Given the description of an element on the screen output the (x, y) to click on. 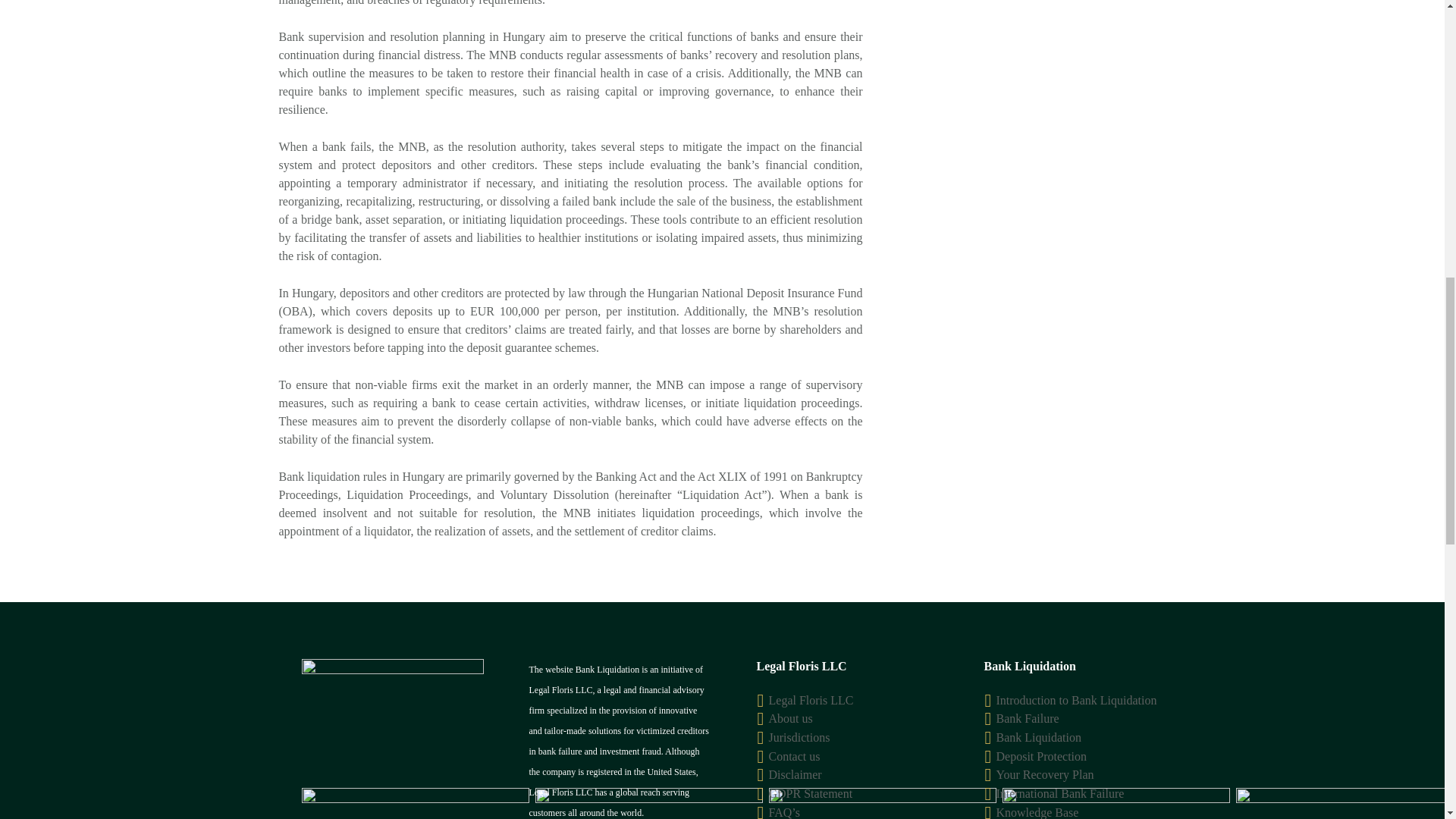
Deposit Protection (1041, 756)
Bank Failure (1027, 717)
Bank Liquidation (1038, 737)
International Bank Failure (1059, 793)
Contact us (794, 756)
Knowledge Base (1036, 812)
About us (790, 717)
Disclaimer (795, 774)
Your Recovery Plan (1044, 774)
GDPR Statement (810, 793)
